Given the description of an element on the screen output the (x, y) to click on. 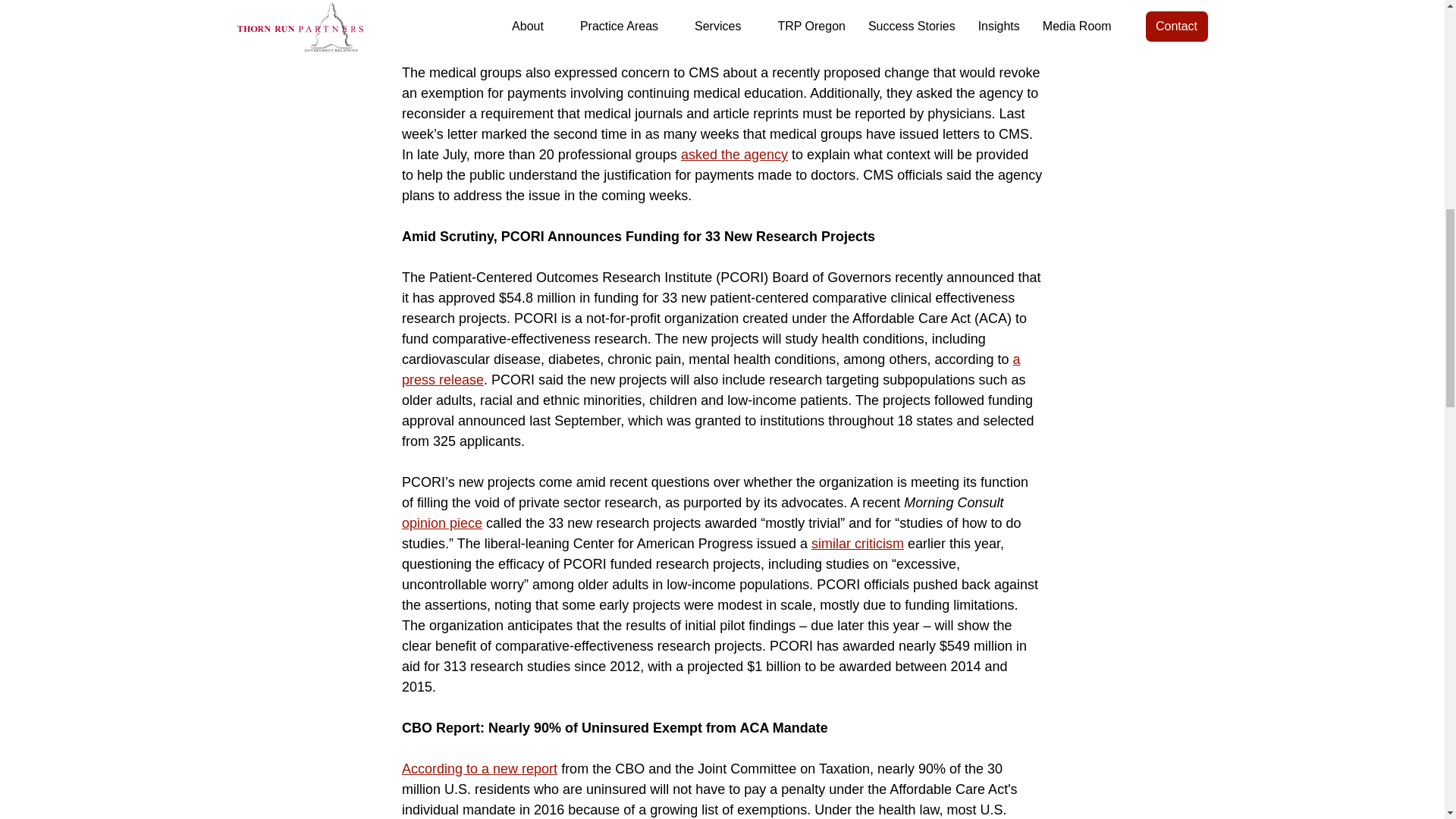
a press release (710, 369)
According to a new report (479, 768)
similar criticism (857, 543)
asked the agency (734, 154)
opinion piece (441, 522)
